Given the description of an element on the screen output the (x, y) to click on. 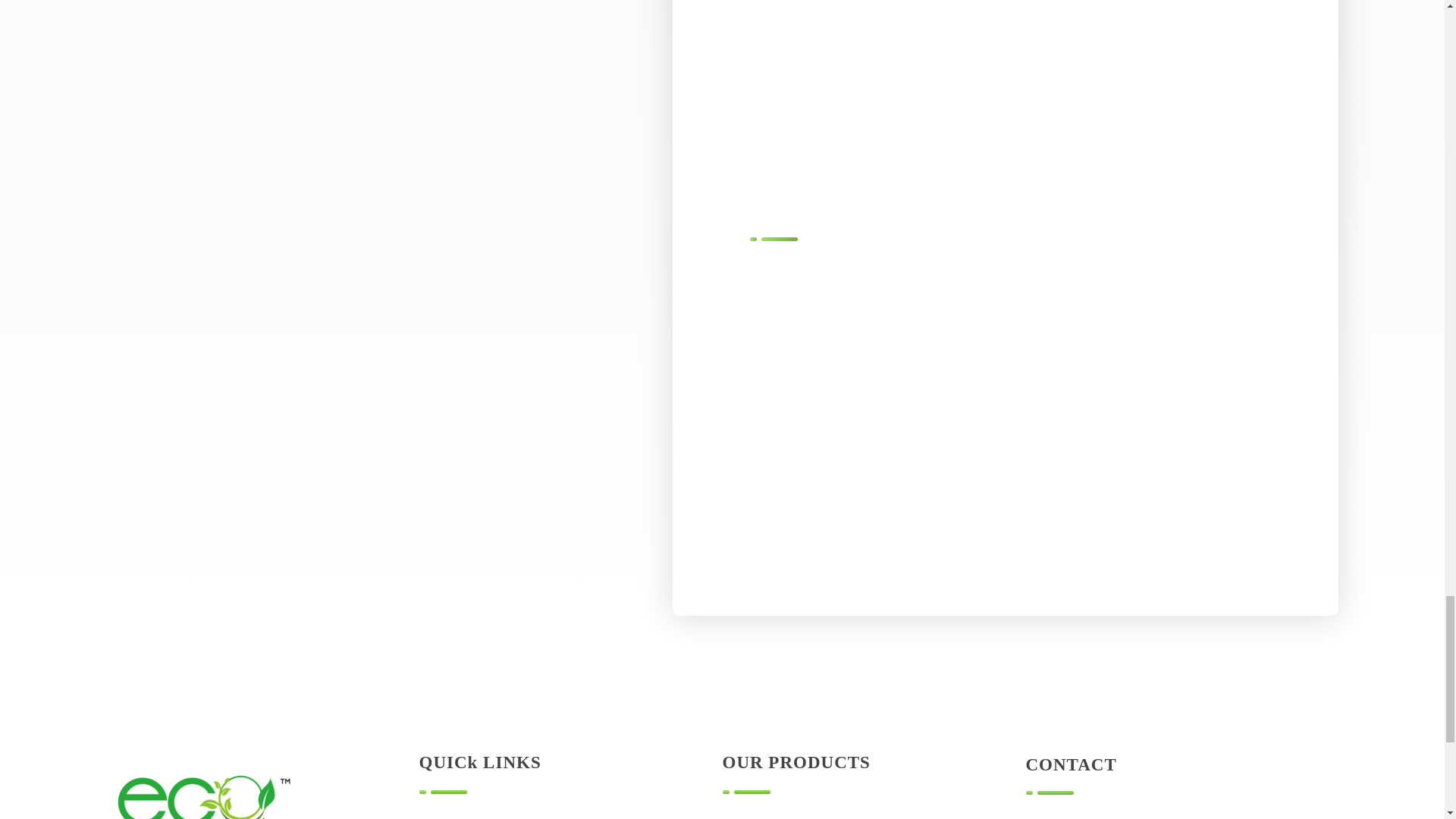
Home (433, 818)
